Given the description of an element on the screen output the (x, y) to click on. 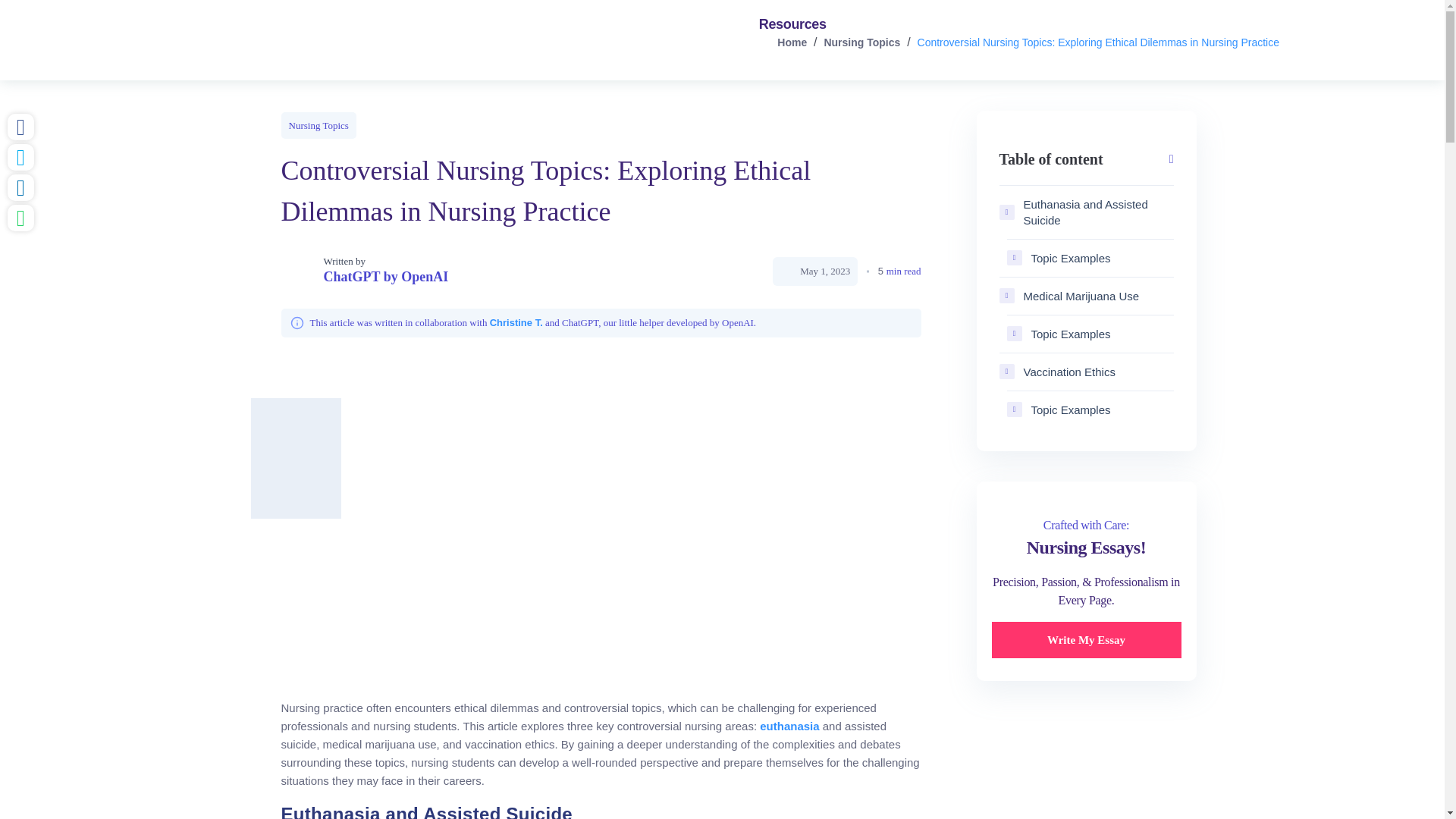
Topic Examples (1090, 409)
Topic Examples (1090, 333)
Go to the Nursing Topics Blog Category archives. (861, 42)
Topic Examples (1090, 257)
Vaccination Ethics (1085, 371)
Medical Marijuana Use (1085, 295)
Write My Essay (1085, 639)
Topic Examples (1090, 257)
Nursing Topics (318, 125)
euthanasia (789, 725)
ChatGPT by OpenAI (385, 277)
Home (791, 42)
Topic Examples (1090, 409)
Christine T. (516, 322)
Nursing Topics (861, 42)
